Given the description of an element on the screen output the (x, y) to click on. 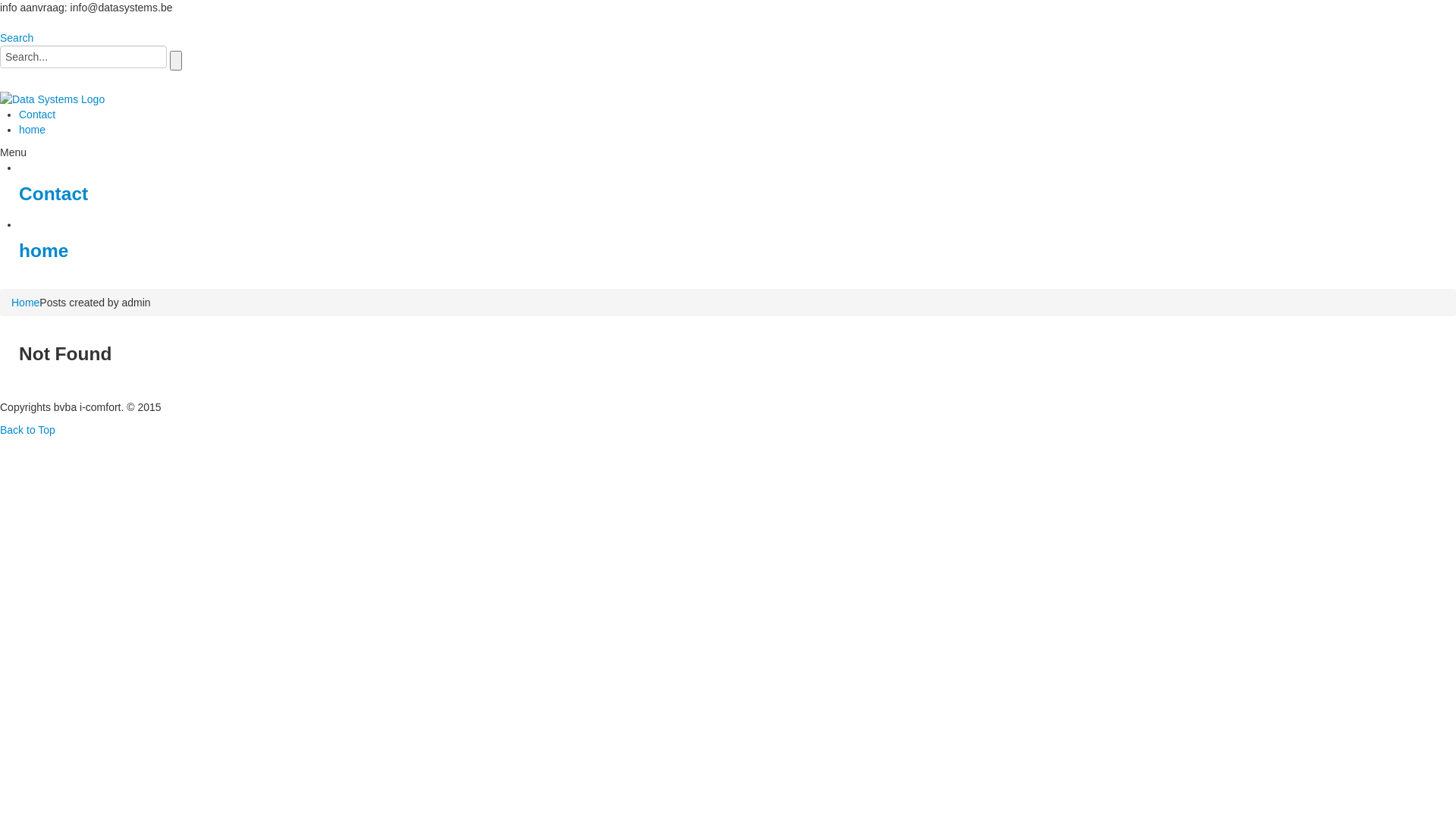
home Element type: text (43, 250)
Data Systems Element type: text (95, 128)
Search Element type: text (16, 37)
home Element type: text (31, 129)
Home Element type: text (25, 302)
Contact Element type: text (36, 114)
Contact Element type: text (52, 193)
Back to Top Element type: text (27, 429)
